Given the description of an element on the screen output the (x, y) to click on. 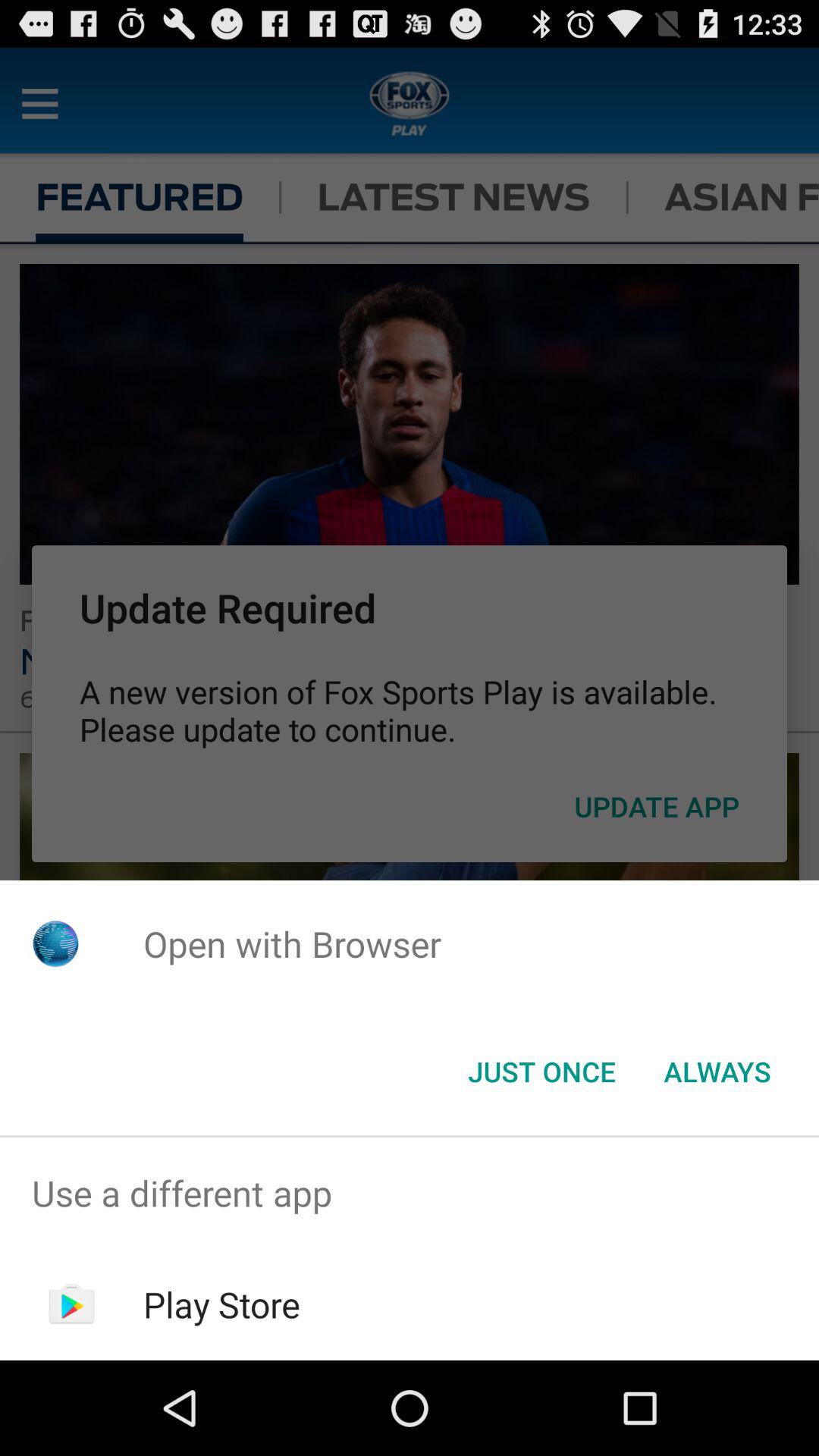
press button next to always item (541, 1071)
